Given the description of an element on the screen output the (x, y) to click on. 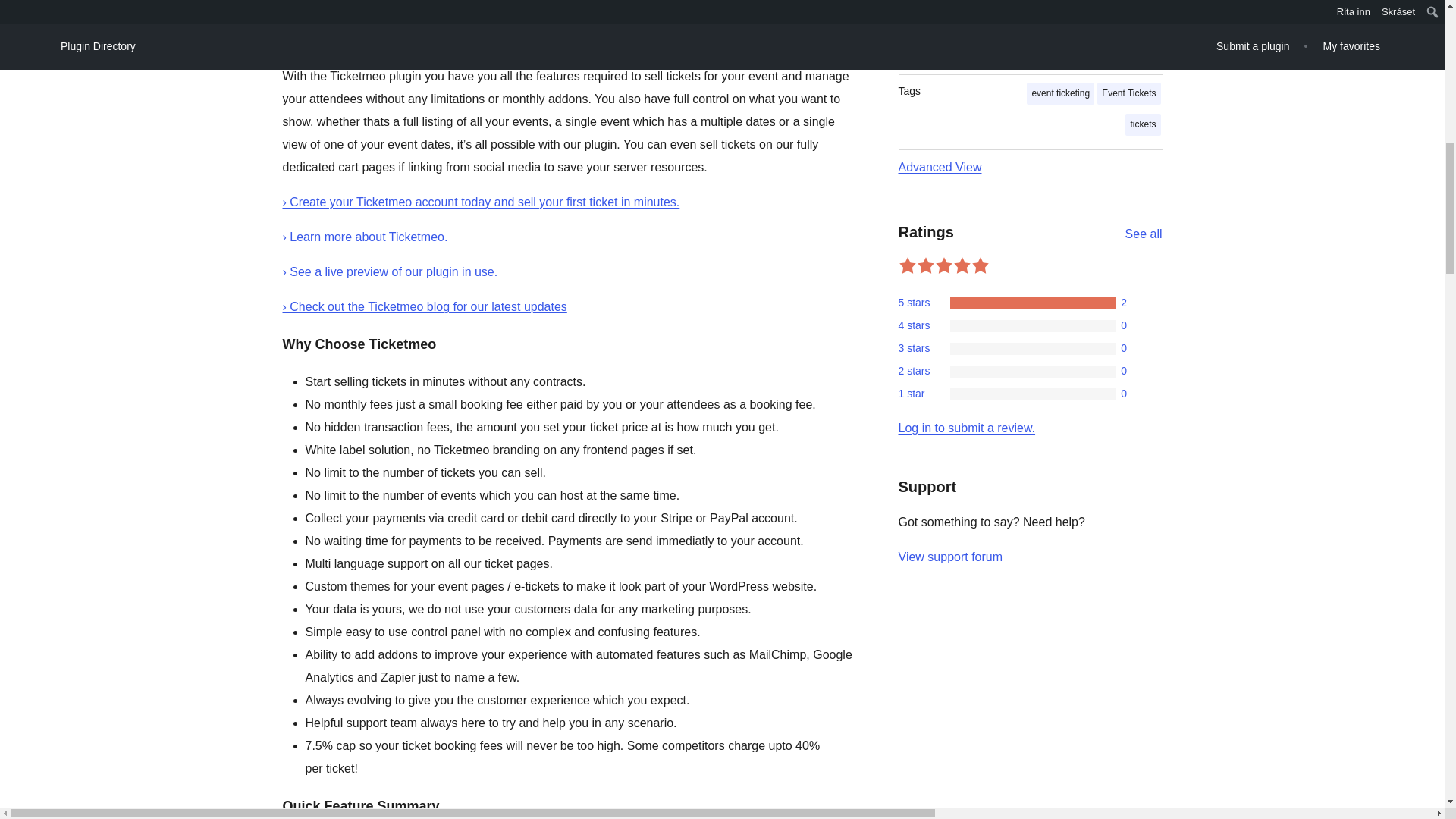
Log in to WordPress.org (966, 427)
